Given the description of an element on the screen output the (x, y) to click on. 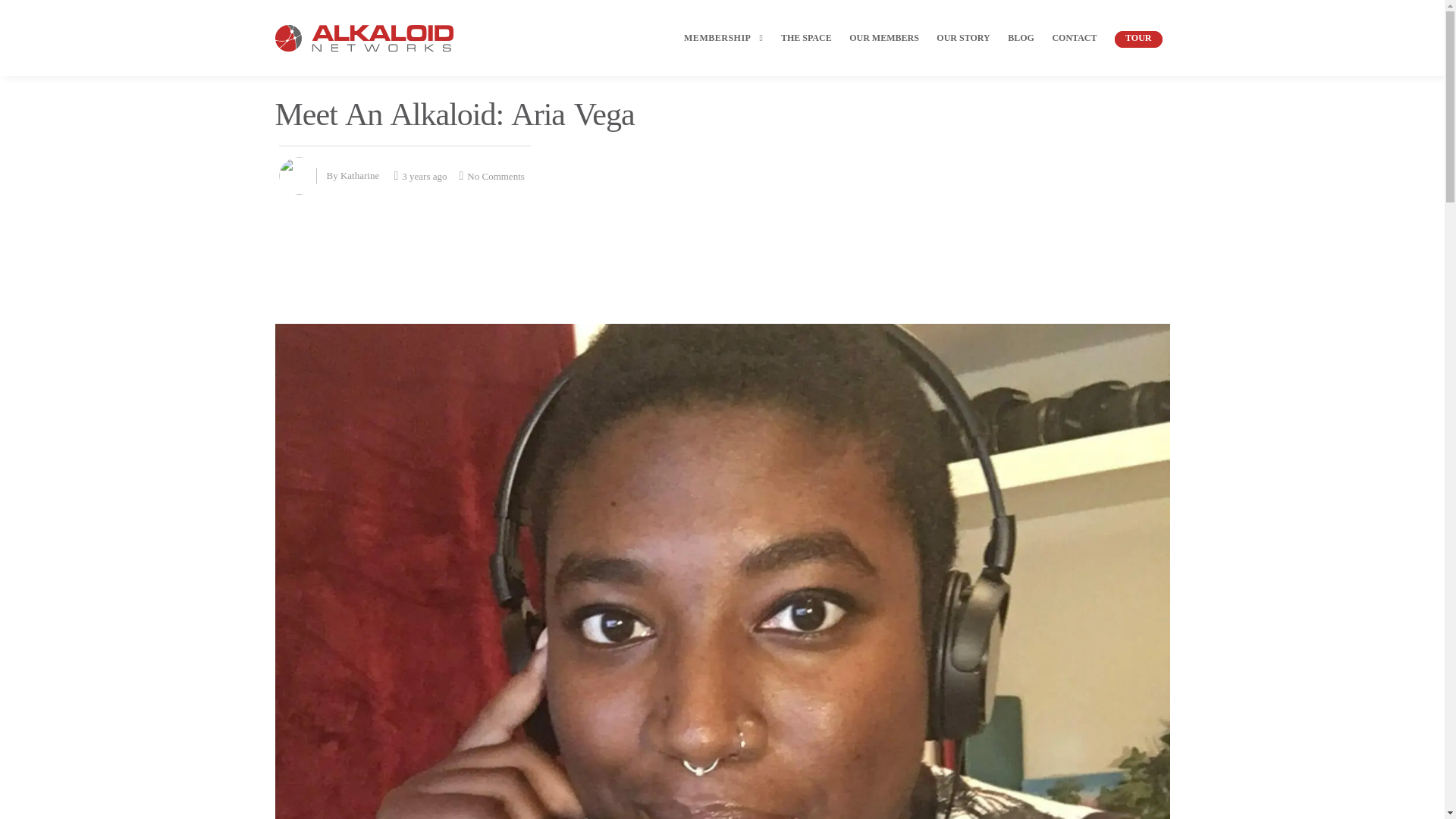
OUR STORY (962, 51)
CONTACT (1073, 51)
Opens a widget where you can chat to one of our agents (1386, 792)
TOUR (1137, 51)
OUR MEMBERS (883, 51)
THE SPACE (806, 51)
Katharine (359, 174)
No Comments (491, 174)
MEMBERSHIP (721, 51)
